Given the description of an element on the screen output the (x, y) to click on. 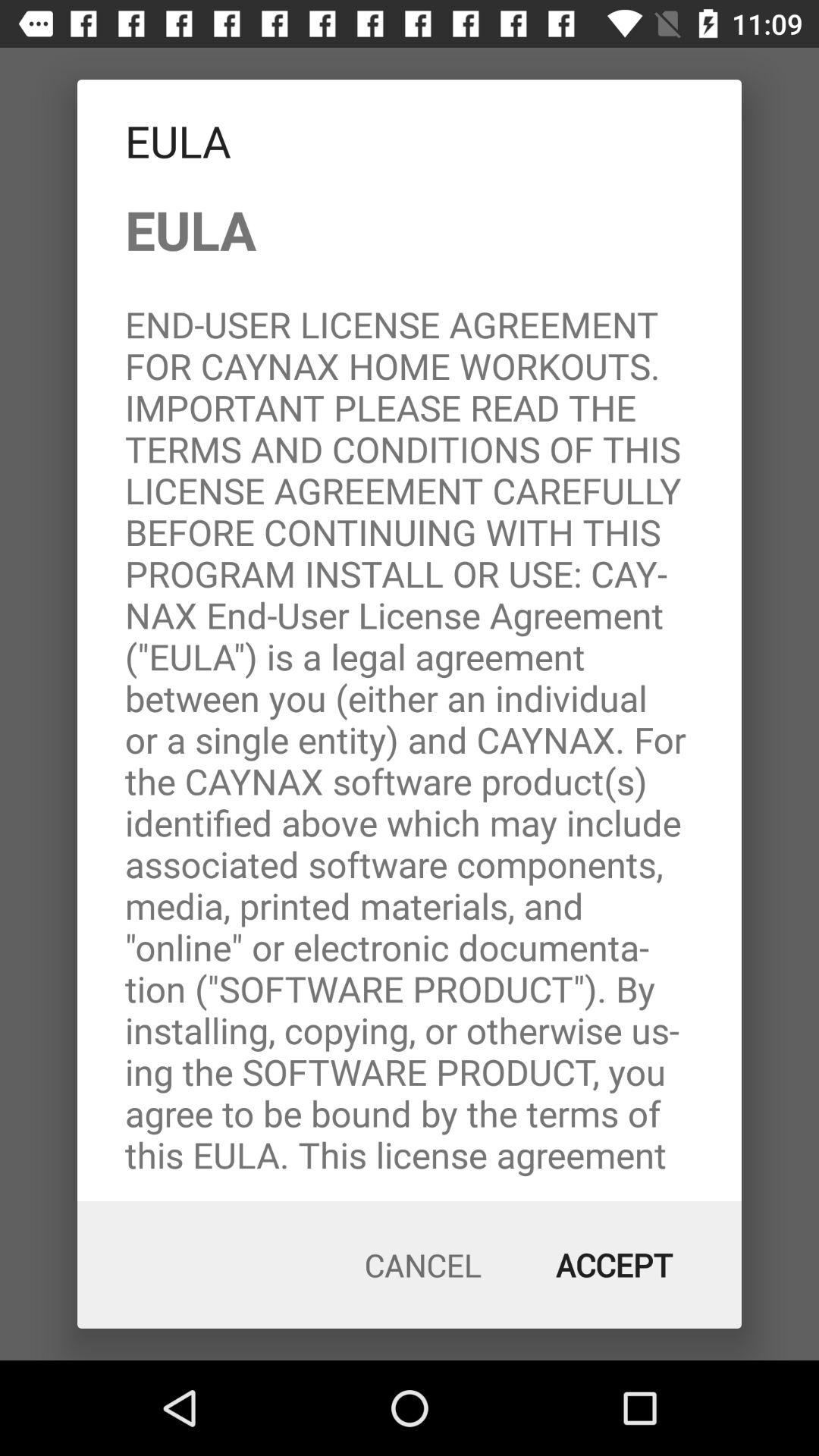
select the button at the bottom (422, 1264)
